Given the description of an element on the screen output the (x, y) to click on. 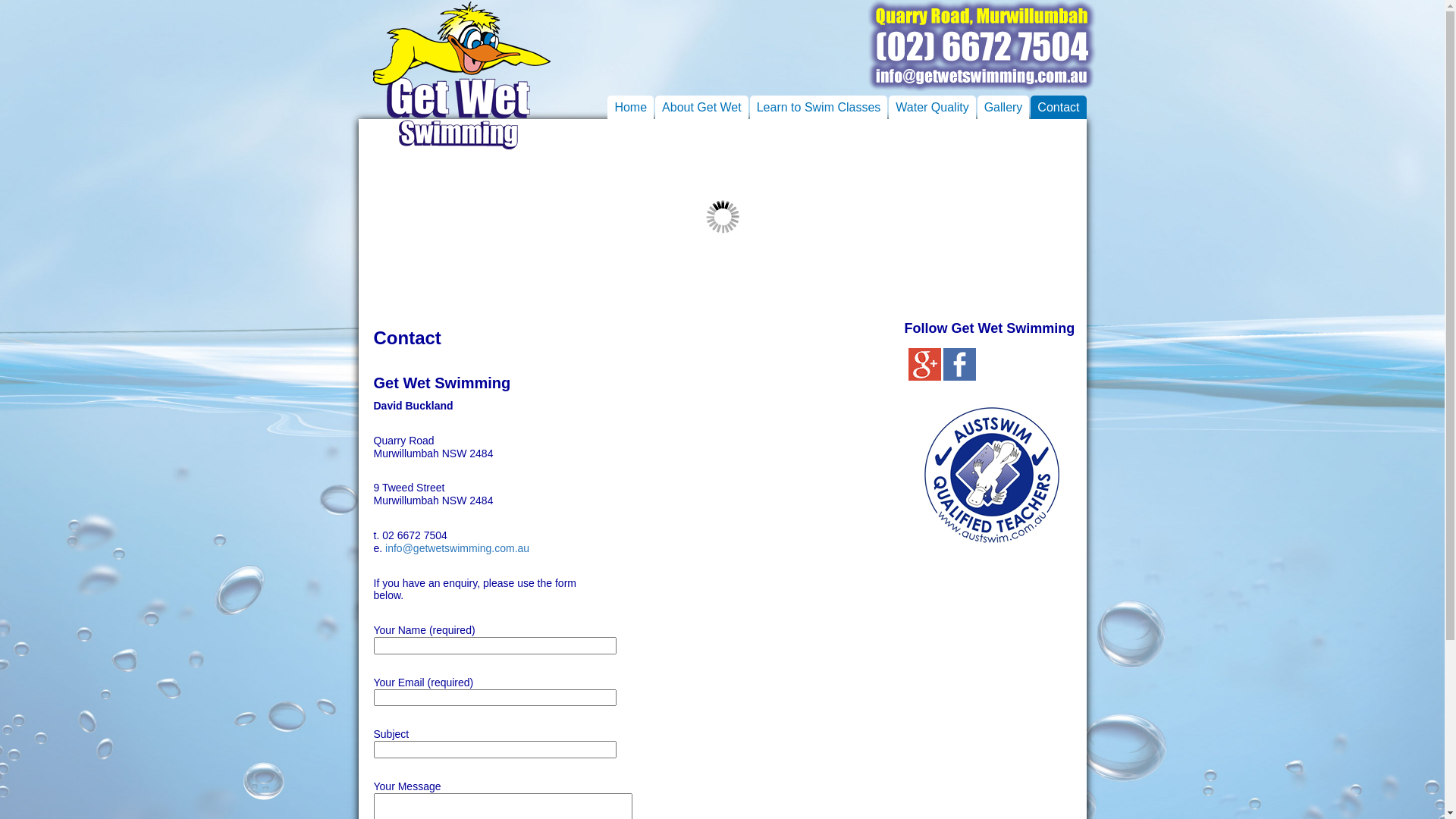
Learn to Swim Classes Element type: text (818, 107)
info@getwetswimming.com.au Element type: text (457, 548)
Contact Element type: text (1057, 107)
Water Quality Element type: text (931, 107)
Gallery Element type: text (1003, 107)
About Get Wet Element type: text (701, 107)
Home Element type: text (630, 107)
